Given the description of an element on the screen output the (x, y) to click on. 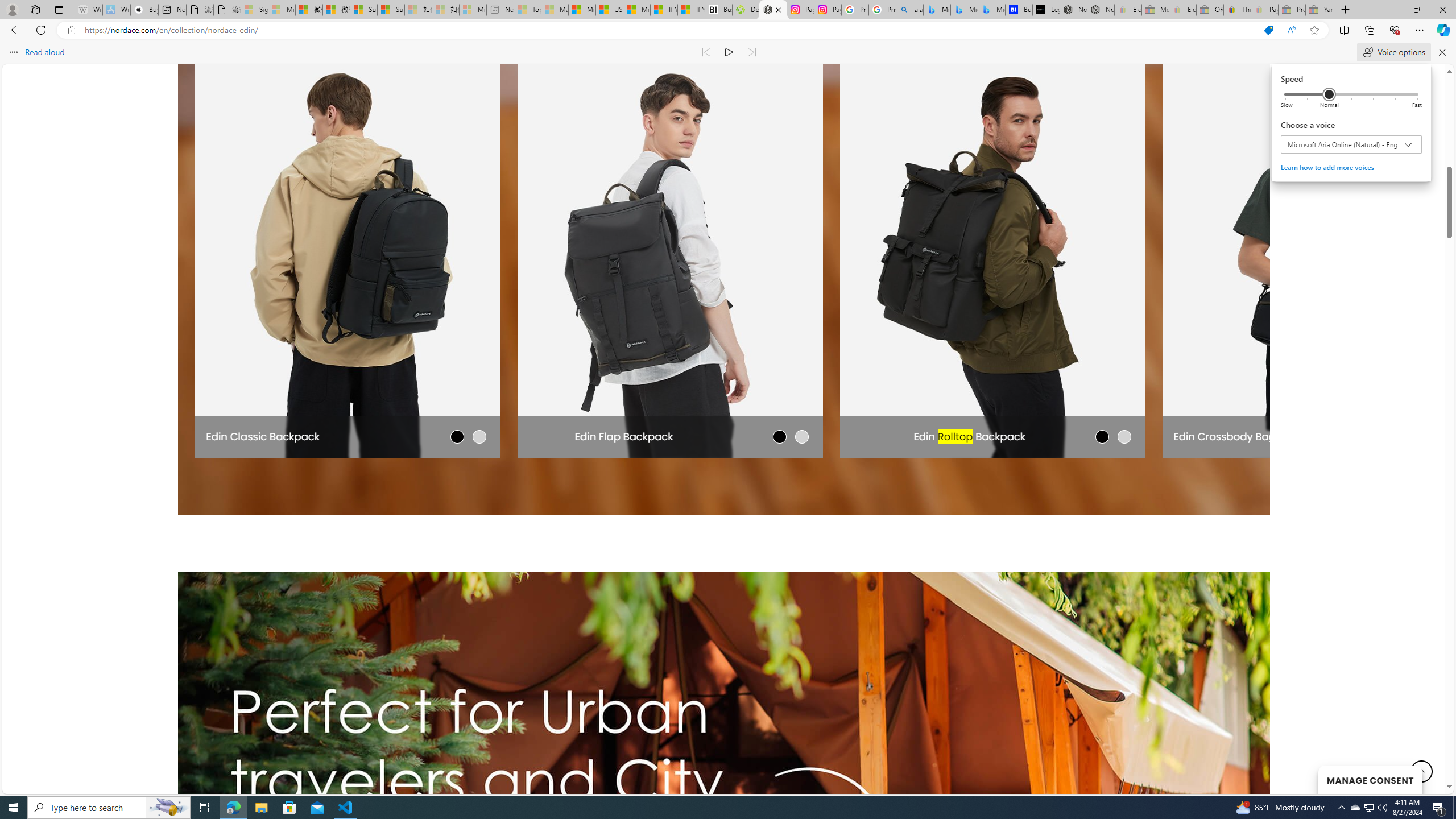
Top Stories - MSN - Sleeping (527, 9)
Microsoft Edge - 1 running window (233, 807)
Payments Terms of Use | eBay.com - Sleeping (1264, 9)
alabama high school quarterback dies - Search (909, 9)
Visual Studio Code - 1 running window (1355, 807)
